Given the description of an element on the screen output the (x, y) to click on. 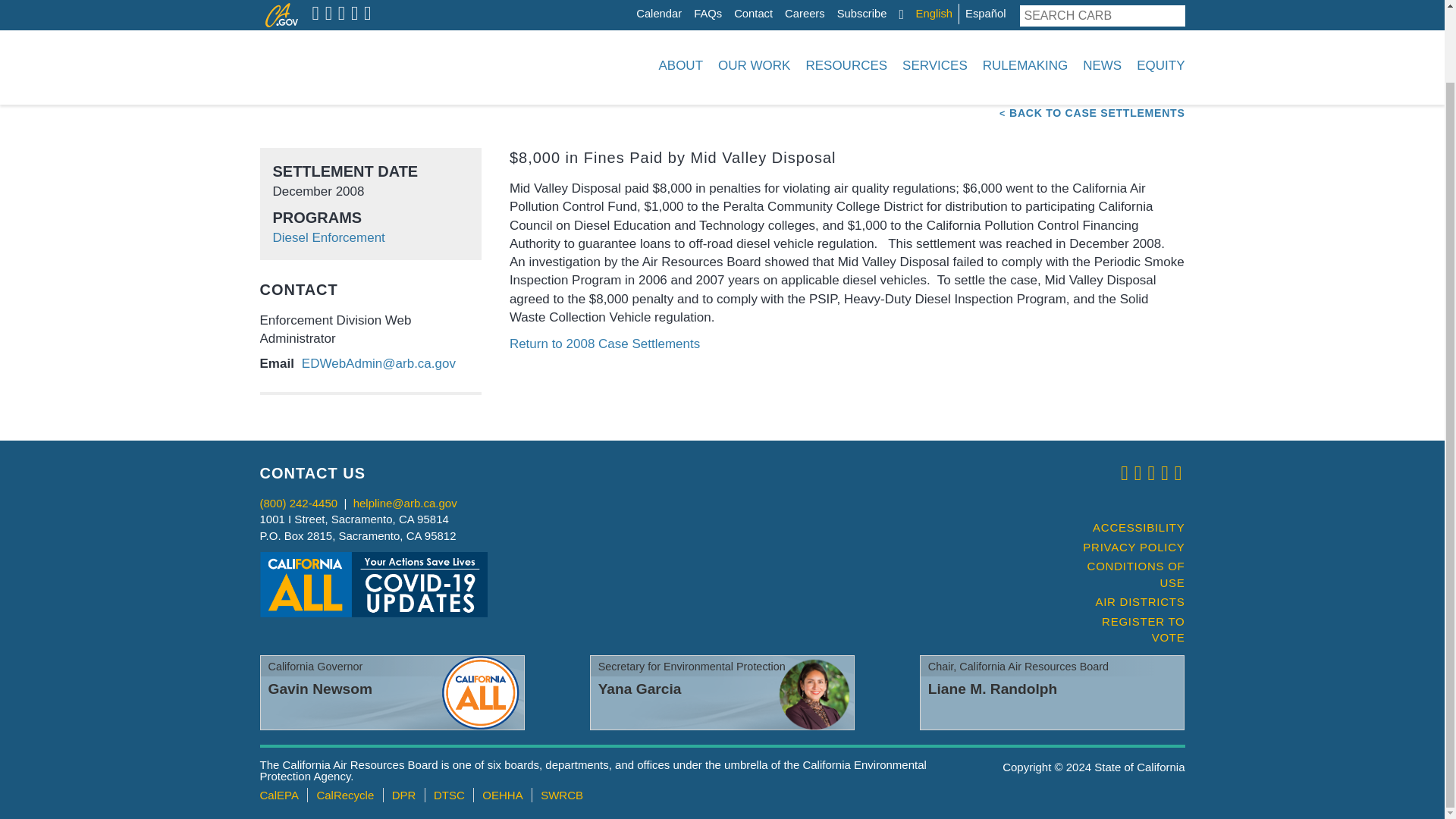
Home (353, 2)
California online voter registration (1127, 628)
California Environmental Protection Agency (278, 794)
